Given the description of an element on the screen output the (x, y) to click on. 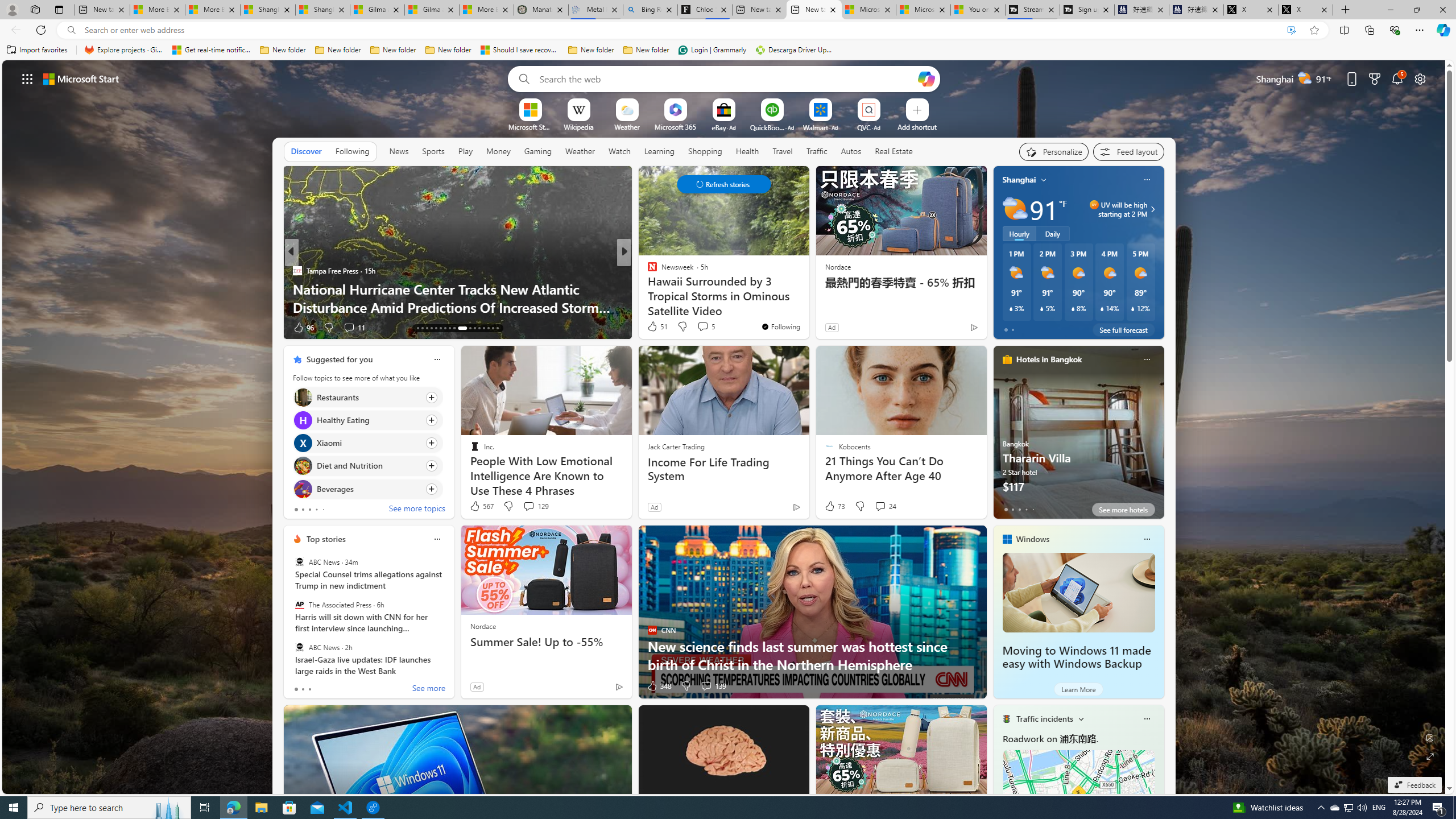
Restaurants (302, 397)
Class: weather-arrow-glyph (1152, 208)
View comments 11 Comment (349, 327)
Change scenarios (1080, 718)
